Given the description of an element on the screen output the (x, y) to click on. 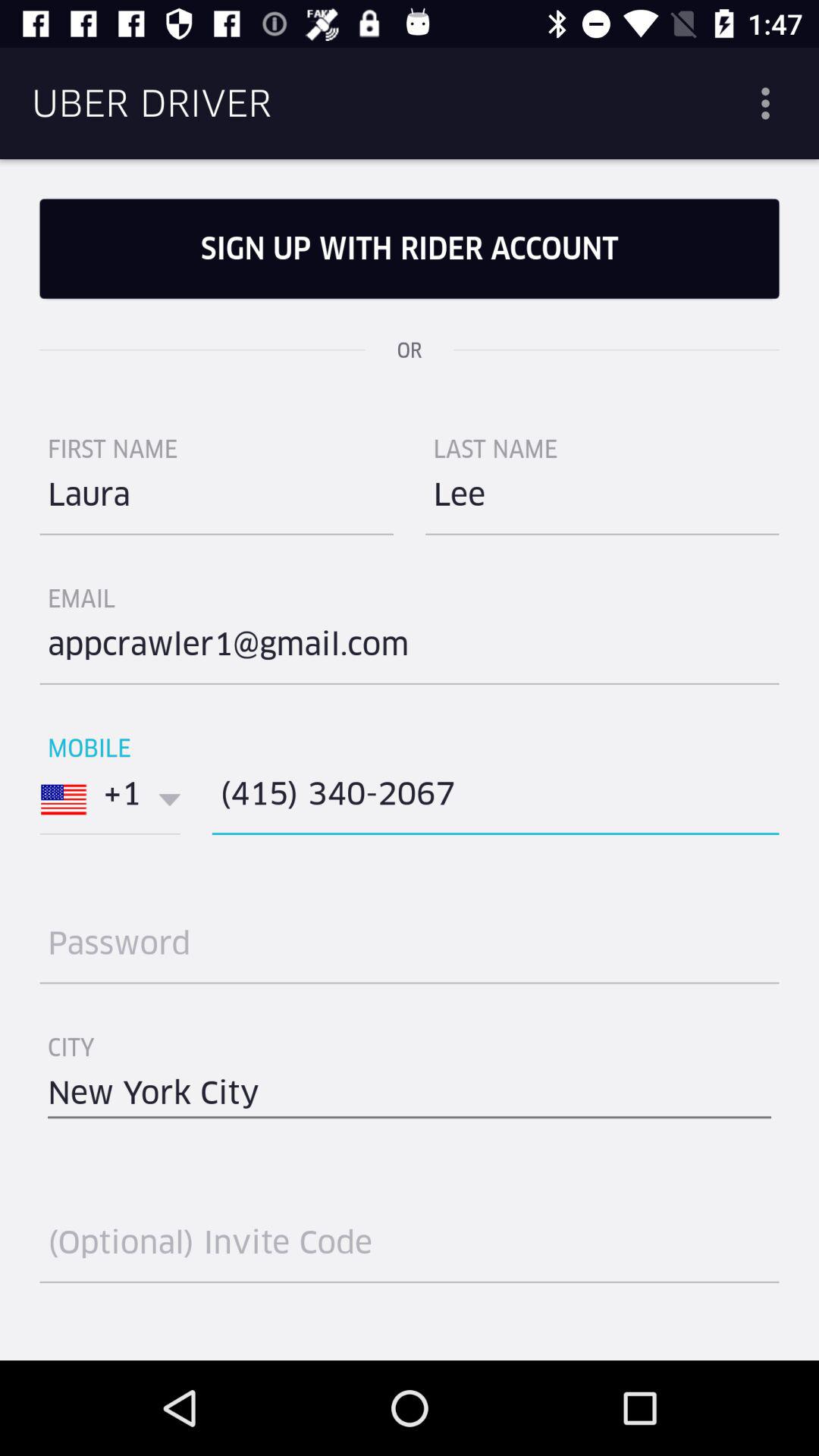
press the laura item (216, 500)
